Given the description of an element on the screen output the (x, y) to click on. 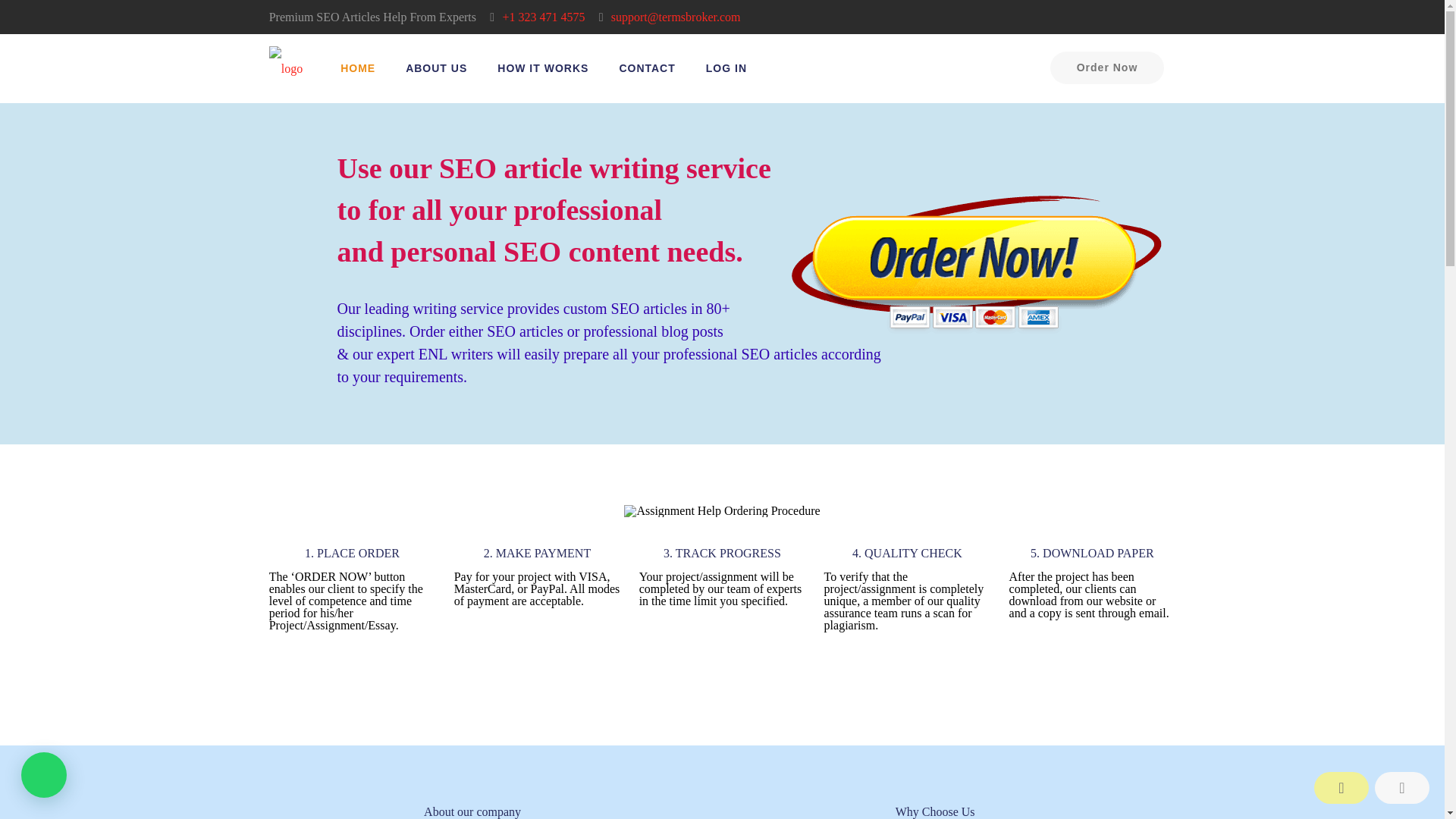
LOG IN (725, 68)
CONTACT (647, 68)
HOW IT WORKS (542, 68)
ABOUT US (435, 68)
Order Now (1106, 67)
HOME (357, 68)
